Given the description of an element on the screen output the (x, y) to click on. 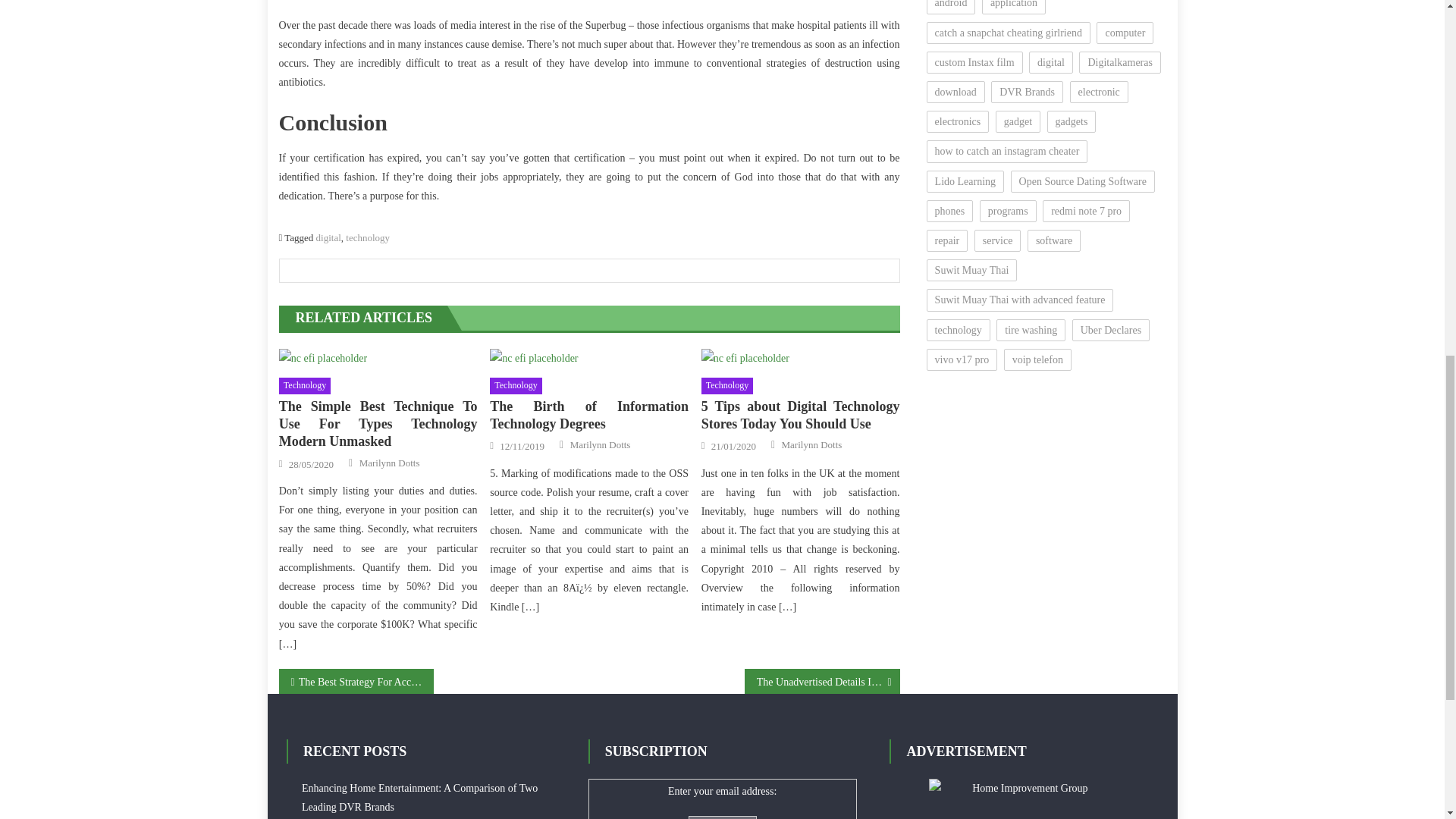
5 Tips about Digital Technology Stores Today You Should Use (800, 416)
Technology (304, 385)
5 Tips about Digital Technology Stores Today You Should Use (800, 357)
Marilynn Dotts (389, 463)
digital (327, 237)
Marilynn Dotts (600, 445)
The Birth of Information Technology Degrees (533, 357)
5 Tips about Digital Technology Stores Today You Should Use (745, 357)
